Given the description of an element on the screen output the (x, y) to click on. 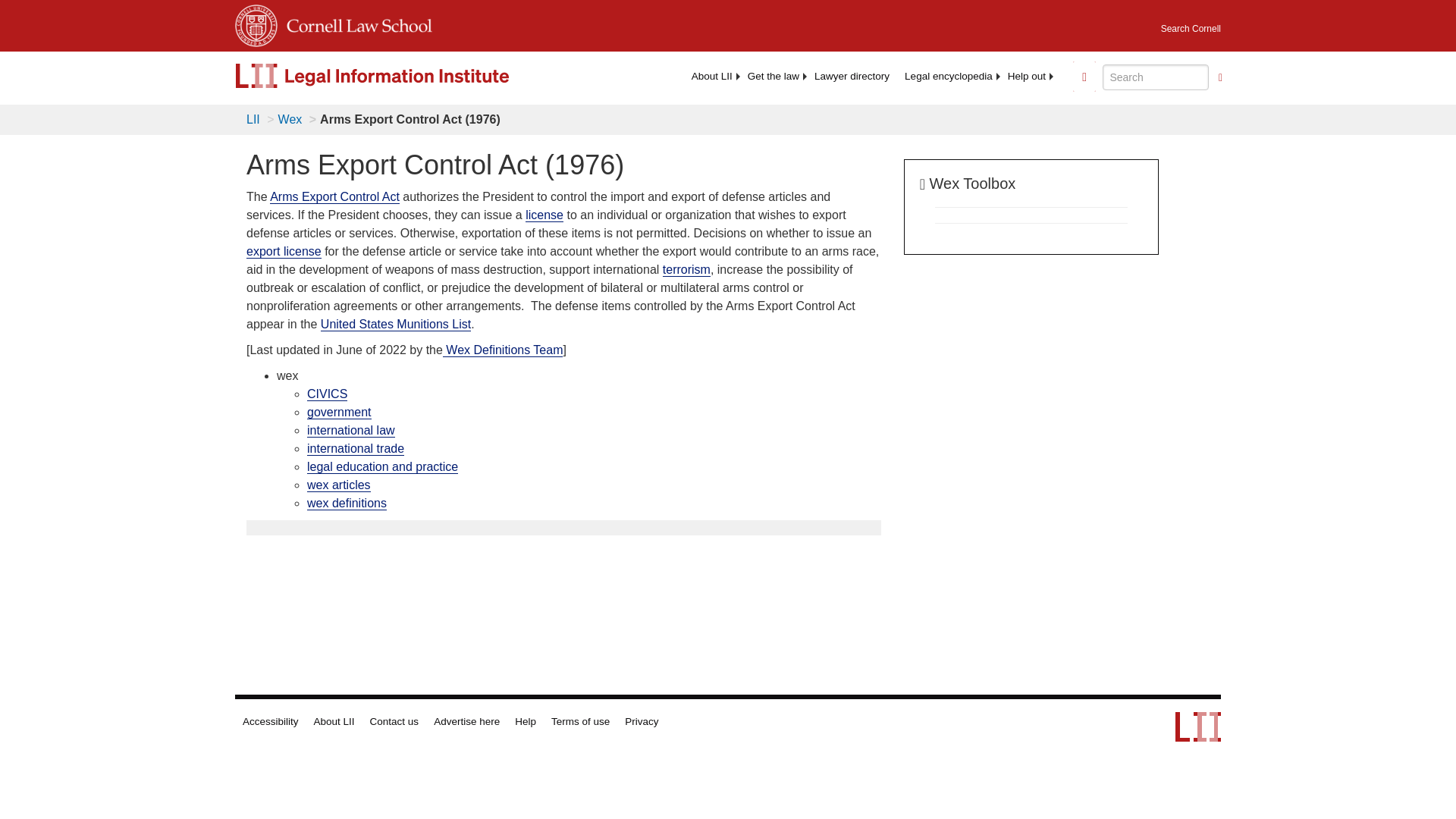
Search Cornell University (1190, 24)
Legal encyclopedia (948, 76)
Cornell Law School (355, 23)
Search Cornell (1190, 24)
Cornell University (256, 23)
Lawyer directory (851, 76)
Cornell Law School (355, 23)
Get the law (772, 76)
About LII (711, 76)
